Given the description of an element on the screen output the (x, y) to click on. 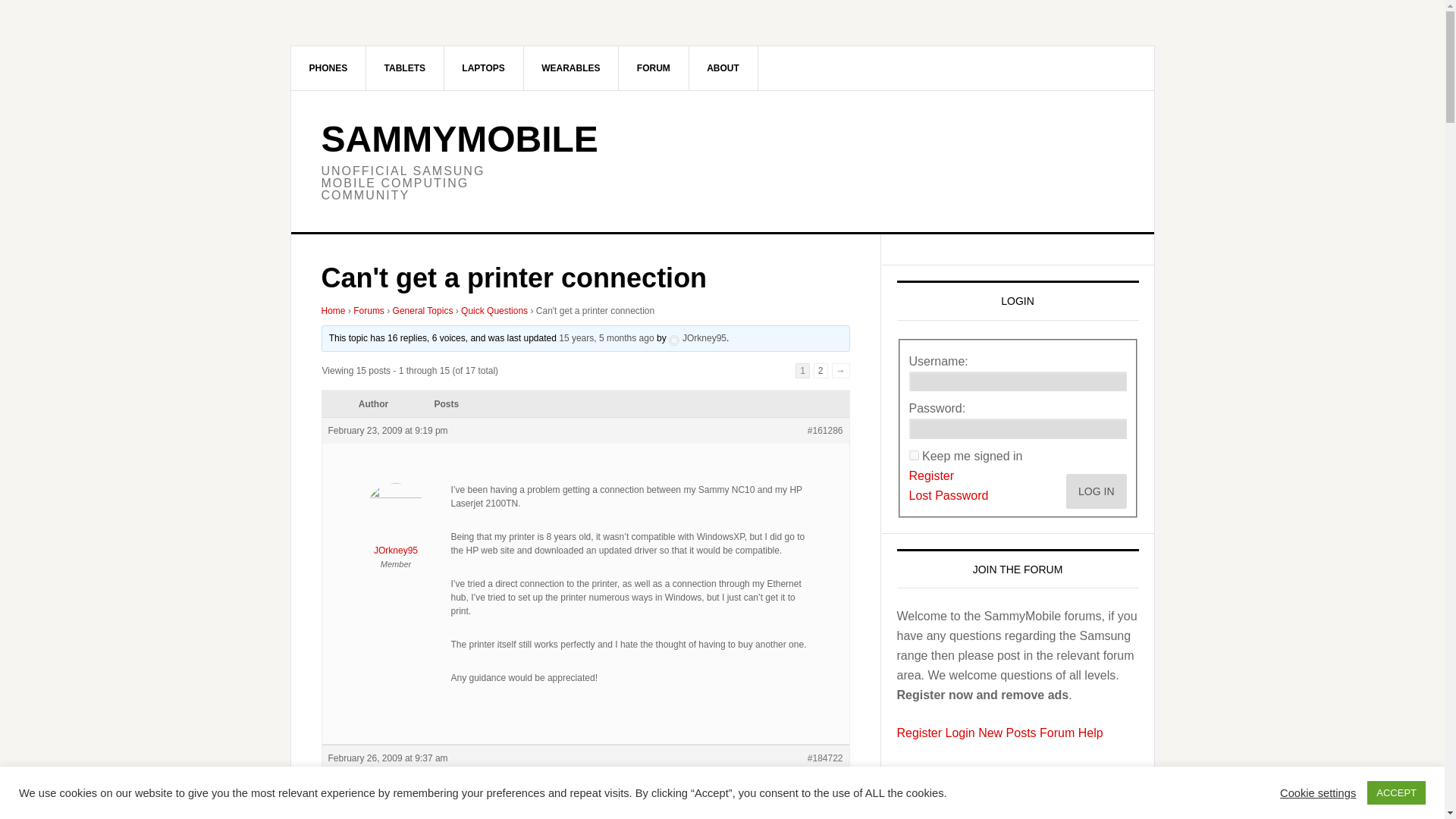
PHONES (328, 67)
jez (395, 818)
ABOUT (723, 67)
LAPTOPS (483, 67)
General Topics (422, 310)
SAMMYMOBILE (459, 138)
Forums (368, 310)
JOrkney95 (395, 523)
View JOrkney95's profile (395, 523)
15 years, 5 months ago (606, 337)
